Given the description of an element on the screen output the (x, y) to click on. 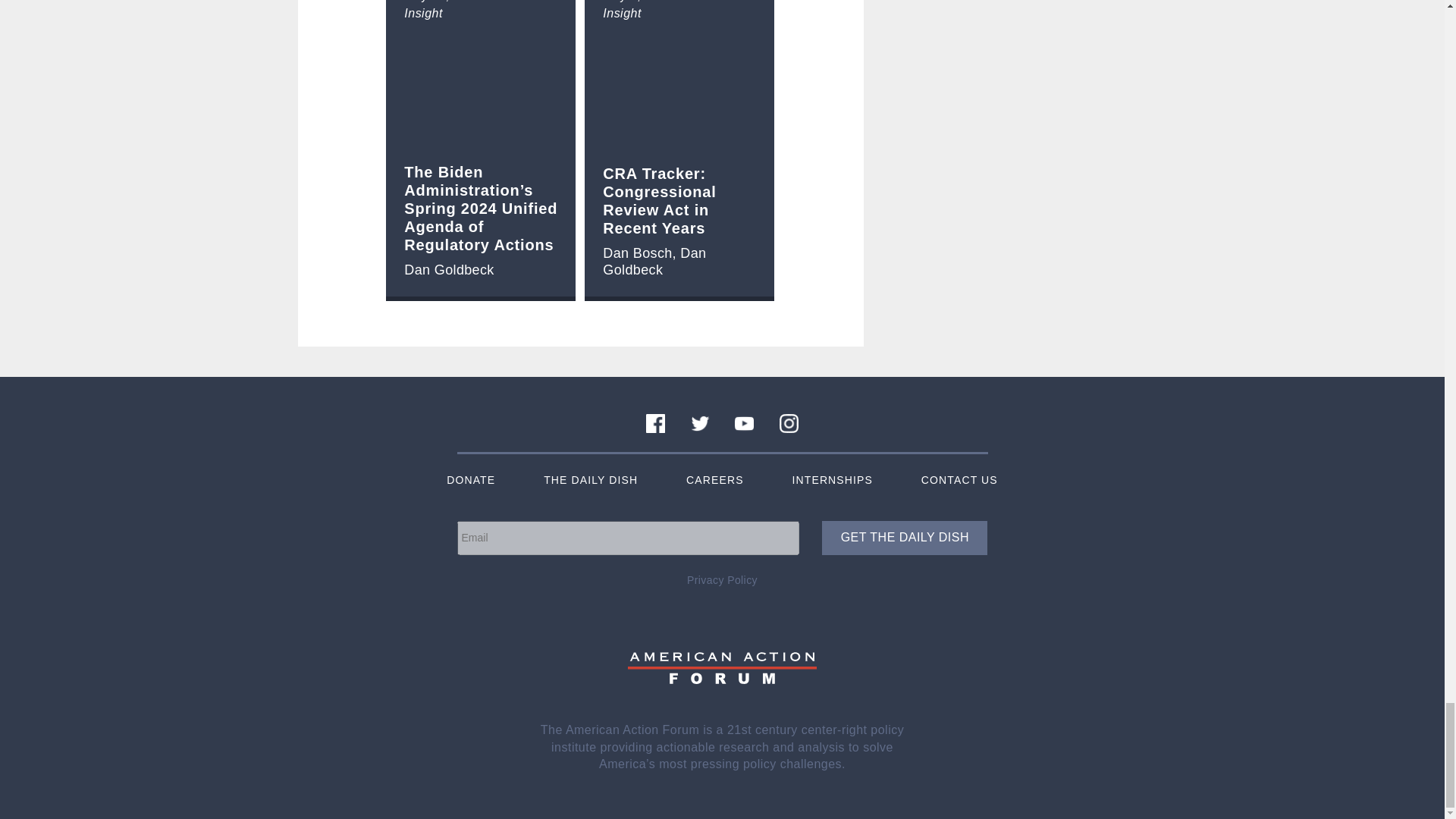
Get the Daily Dish (904, 537)
